Given the description of an element on the screen output the (x, y) to click on. 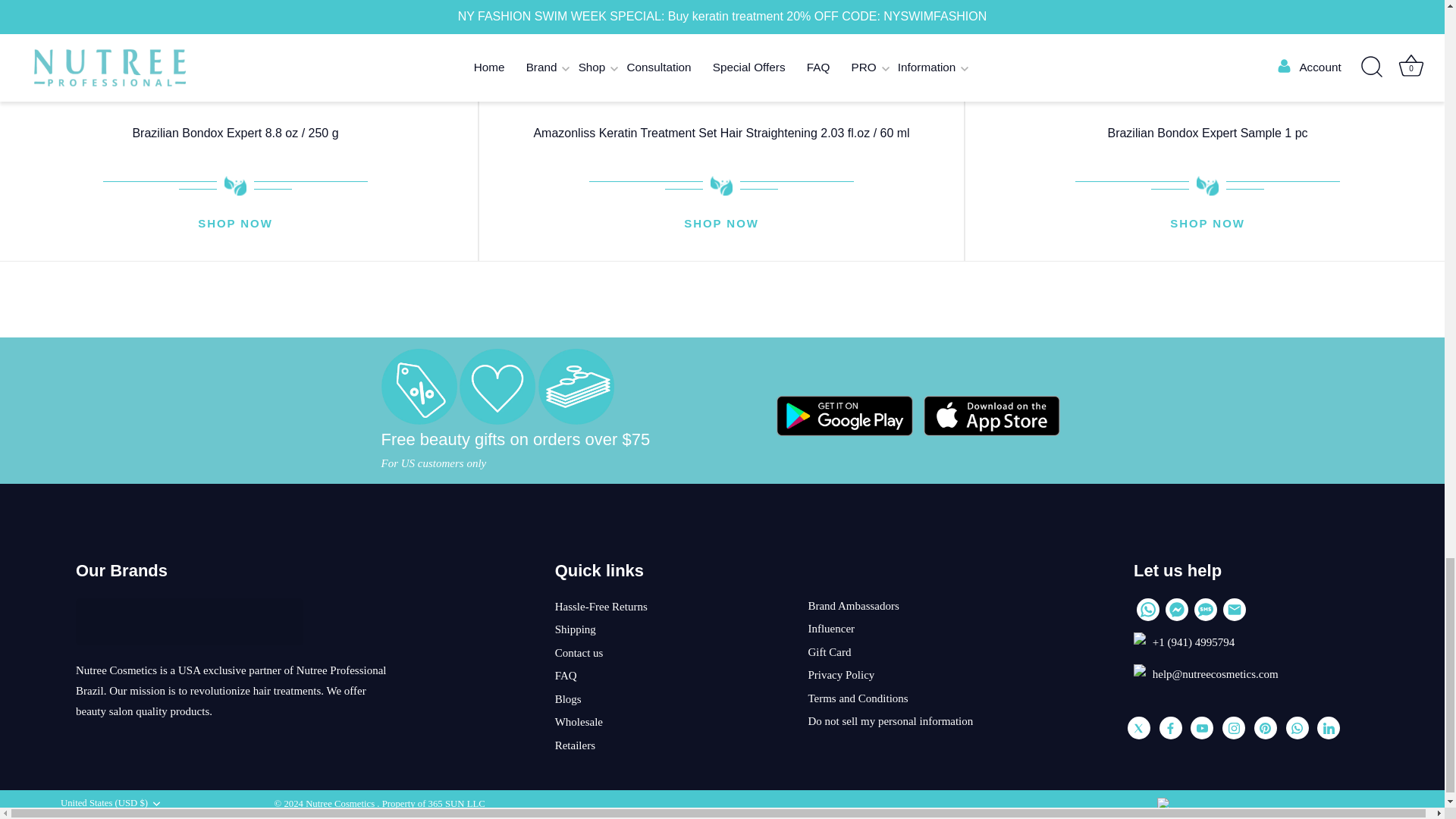
Shop Now (234, 224)
Shop Now (721, 224)
Shop Now (1207, 224)
